Given the description of an element on the screen output the (x, y) to click on. 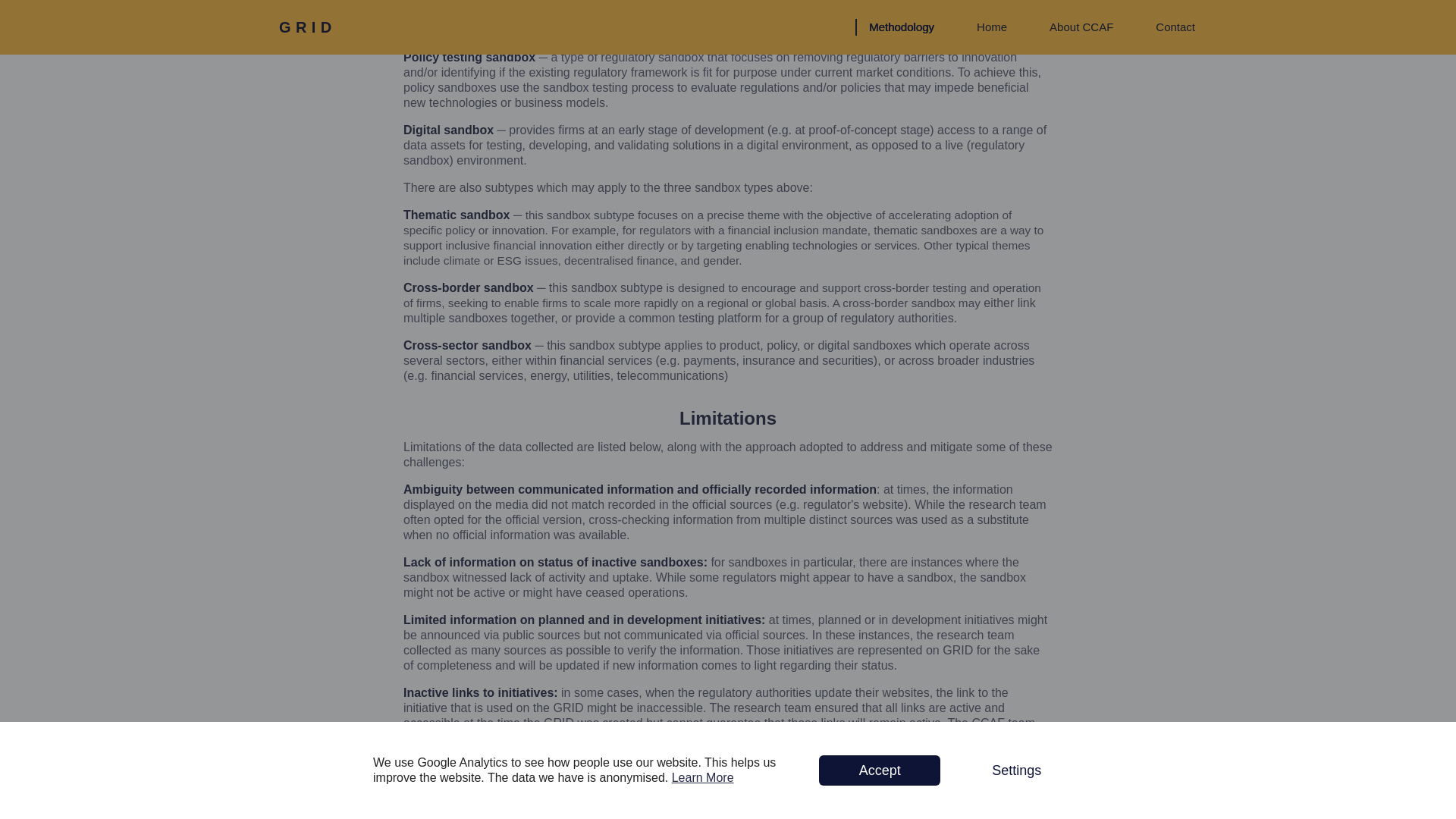
Settings (1016, 32)
Accept (879, 32)
Learn More (702, 39)
